Given the description of an element on the screen output the (x, y) to click on. 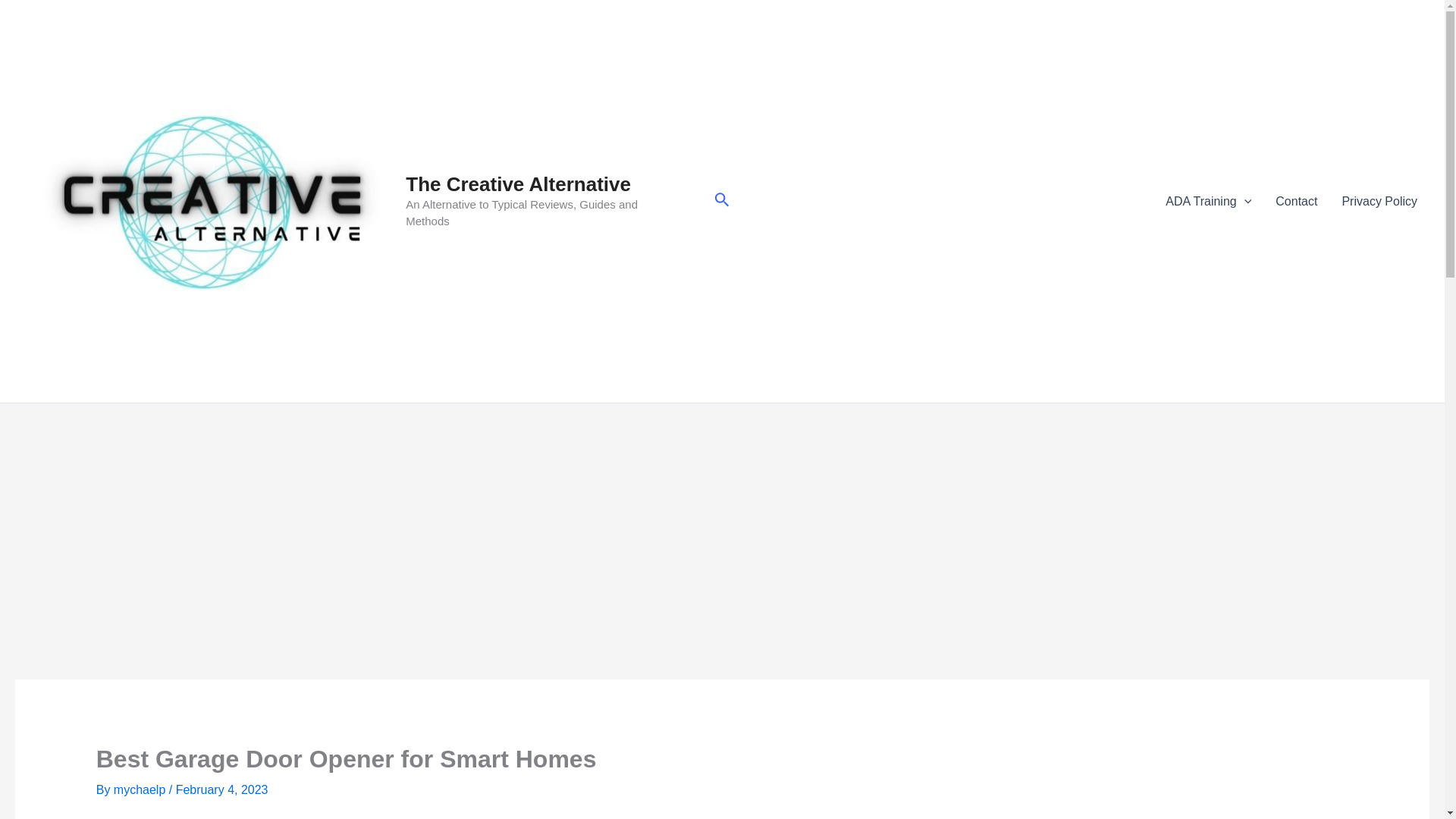
View all posts by mychaelp (140, 789)
The Creative Alternative (518, 183)
Contact (1296, 201)
Privacy Policy (1379, 201)
ADA Training (1208, 201)
mychaelp (140, 789)
